Given the description of an element on the screen output the (x, y) to click on. 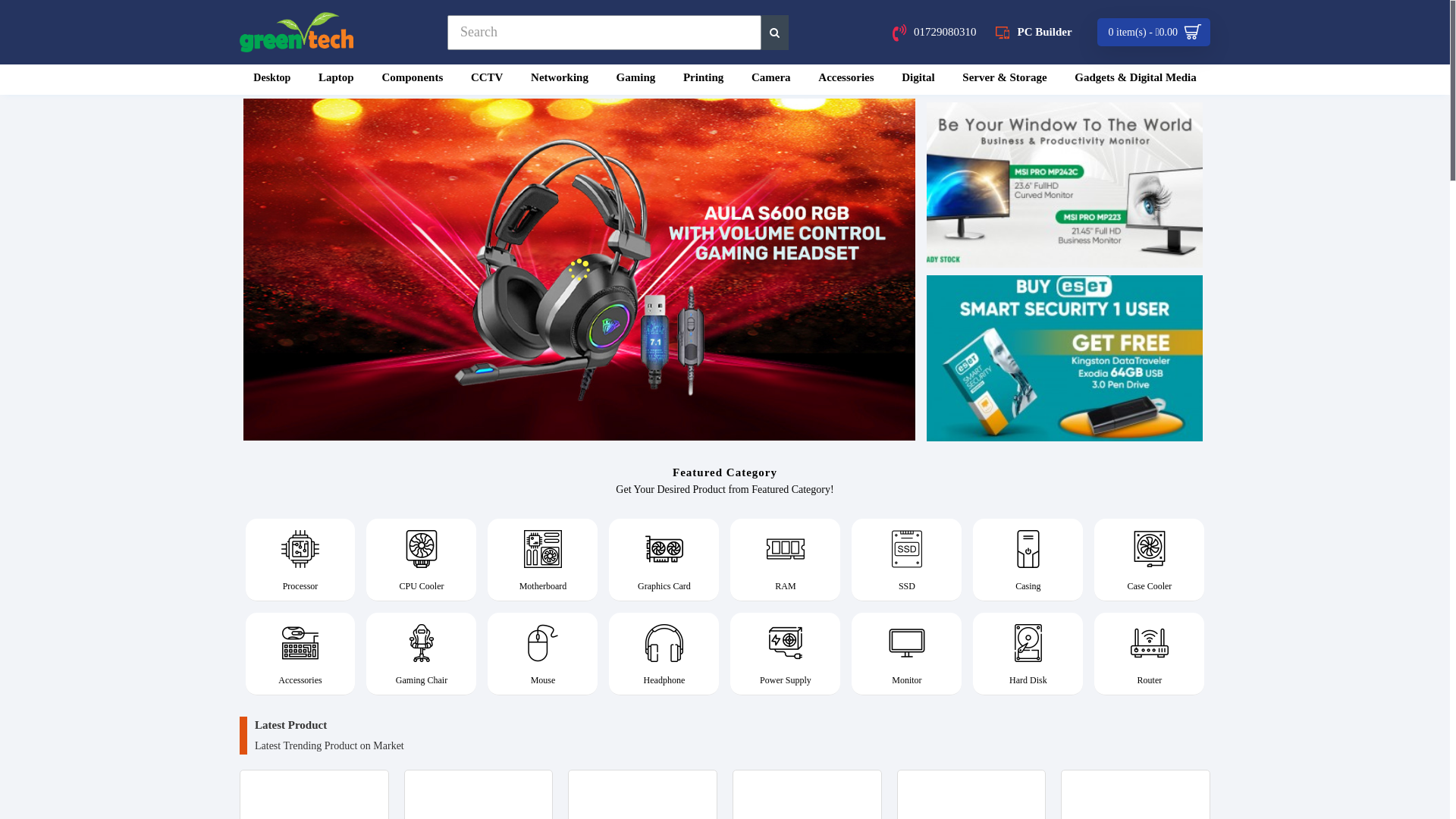
Networking Element type: text (559, 79)
Gadgets & Digital Media Element type: text (1135, 79)
Accessories Element type: text (846, 79)
Digital Element type: text (918, 79)
Components Element type: text (412, 79)
Laptop Element type: text (335, 79)
Server & Storage Element type: text (1004, 79)
CPU Cooler Element type: text (421, 559)
01729080310 Element type: text (934, 32)
Motherboard Element type: text (542, 559)
Camera Element type: text (770, 79)
Desktop Element type: text (271, 79)
Gaming Element type: text (635, 79)
Mouse Element type: text (542, 653)
CCTV Element type: text (487, 79)
Printing Element type: text (703, 79)
PC Builder Element type: text (1033, 32)
Processor Element type: text (300, 559)
GreenTech System Limited Element type: hover (296, 31)
Accessories Element type: text (300, 653)
Headphone Element type: text (663, 653)
